Given the description of an element on the screen output the (x, y) to click on. 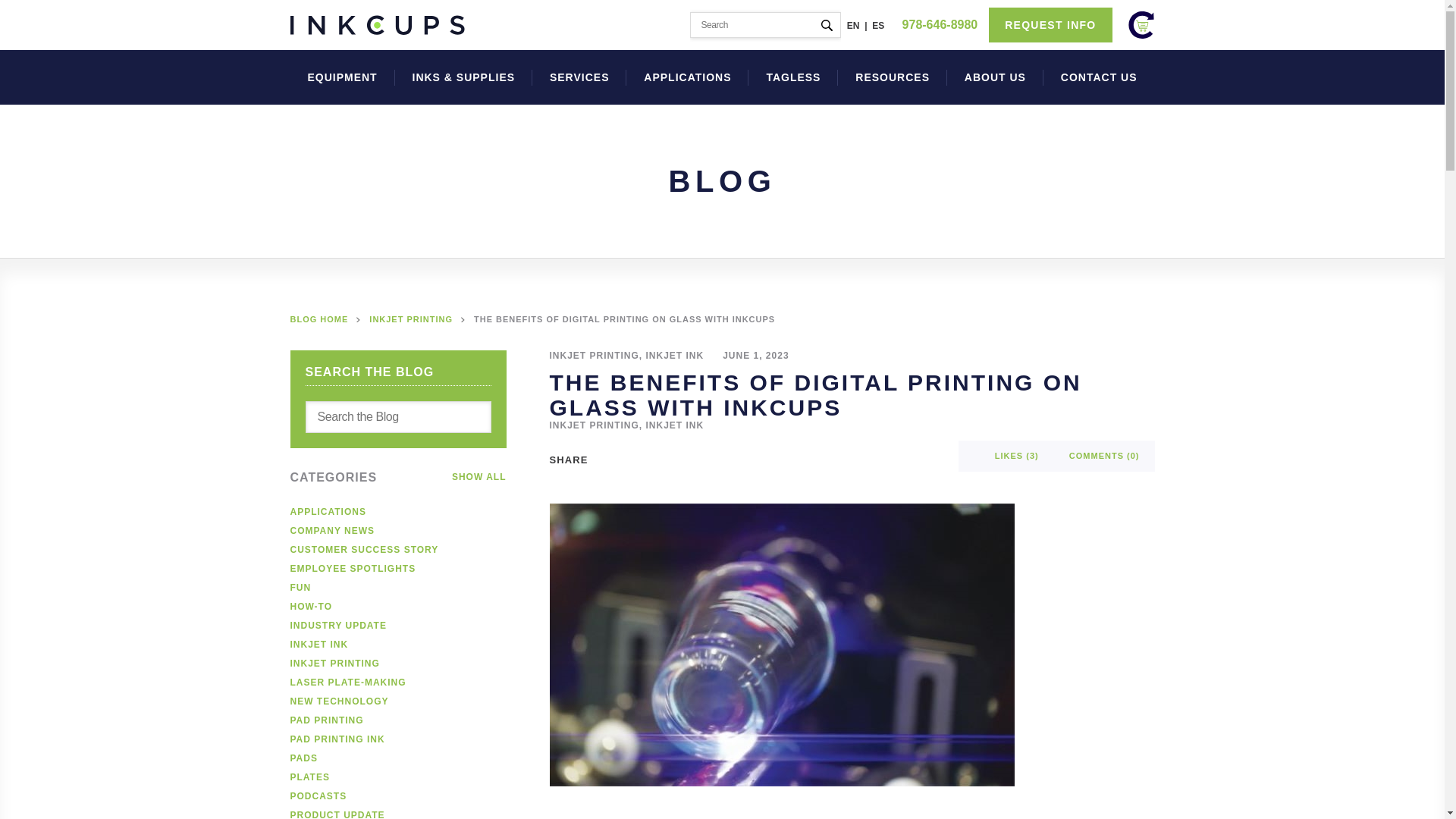
SERVICES (579, 77)
REQUEST INFO (1050, 24)
978-646-8980 (940, 24)
ES (877, 25)
EQUIPMENT (341, 77)
EN (853, 25)
